Given the description of an element on the screen output the (x, y) to click on. 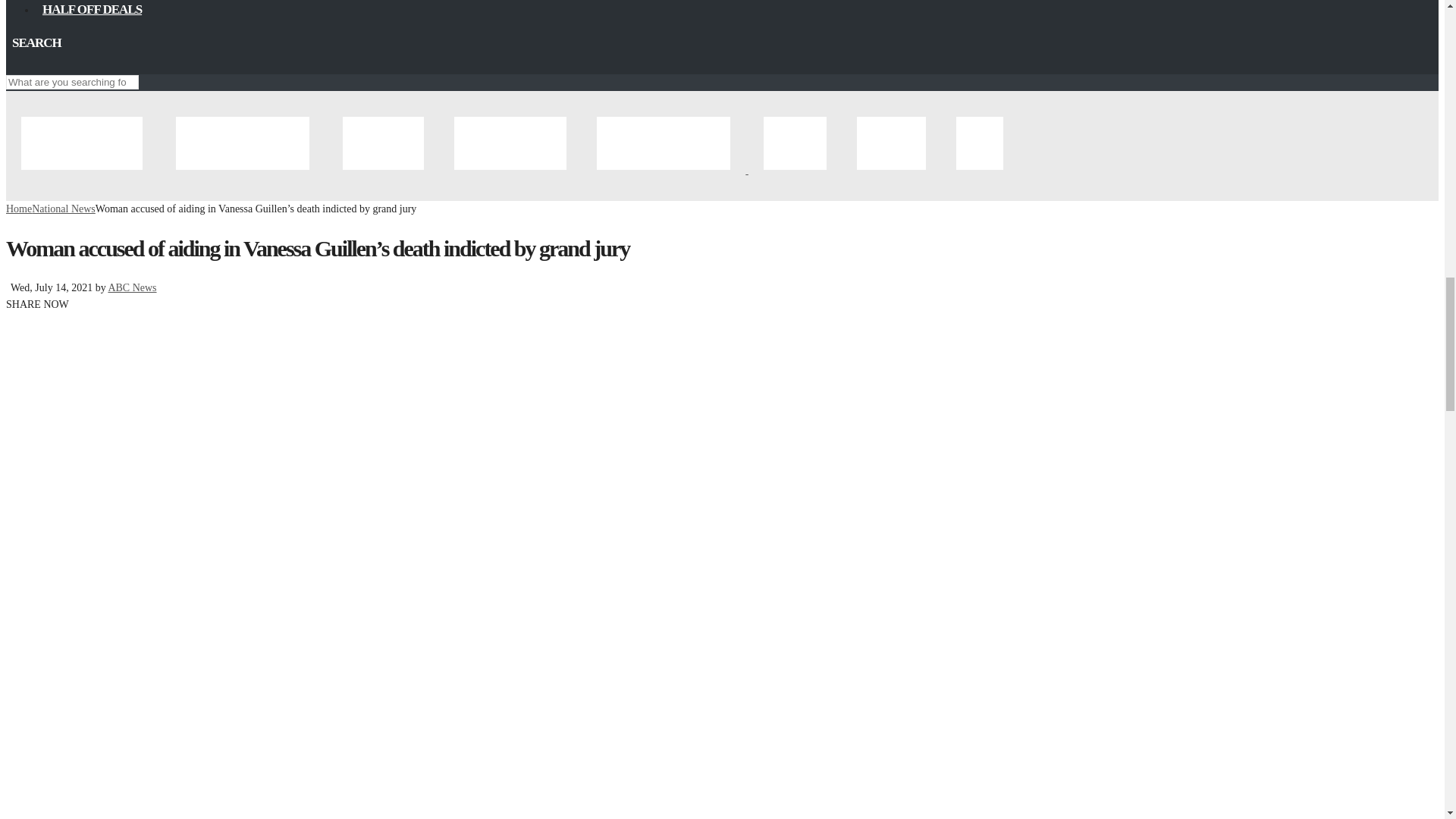
Follow us on Facebook (11, 64)
Search for: (71, 82)
Follow us on Instagram (36, 64)
Follow us on X (23, 64)
Posts by ABC News (131, 287)
